Given the description of an element on the screen output the (x, y) to click on. 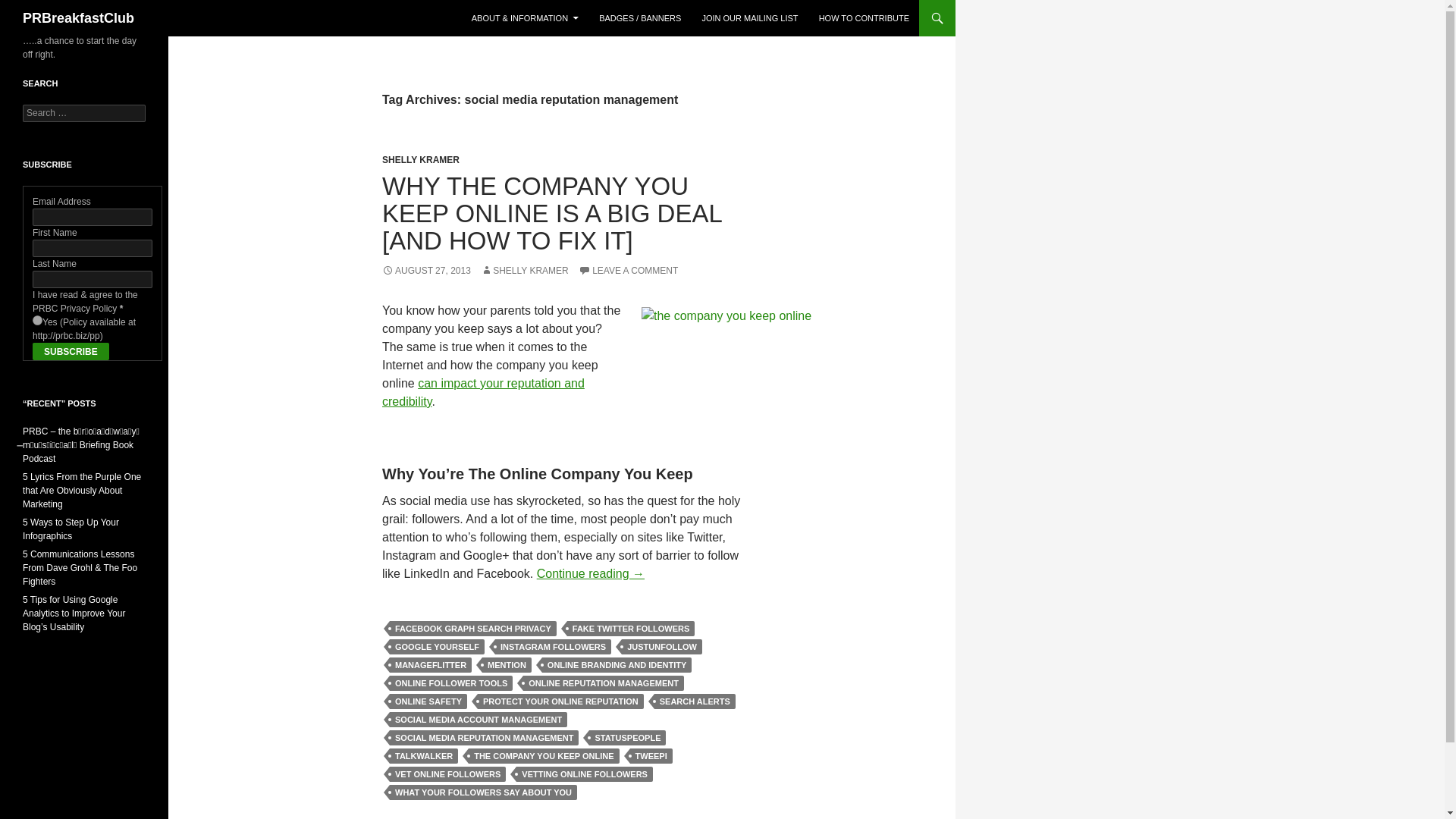
SOCIAL MEDIA ACCOUNT MANAGEMENT (478, 719)
FACEBOOK GRAPH SEARCH PRIVACY (473, 628)
FAKE TWITTER FOLLOWERS (631, 628)
LEAVE A COMMENT (628, 270)
can impact your reputation and credibility (483, 391)
PrivacyPlease (755, 383)
INSTAGRAM FOLLOWERS (553, 646)
ONLINE SAFETY (428, 701)
JOIN OUR MAILING LIST (749, 18)
SOCIAL MEDIA REPUTATION MANAGEMENT (484, 737)
